Given the description of an element on the screen output the (x, y) to click on. 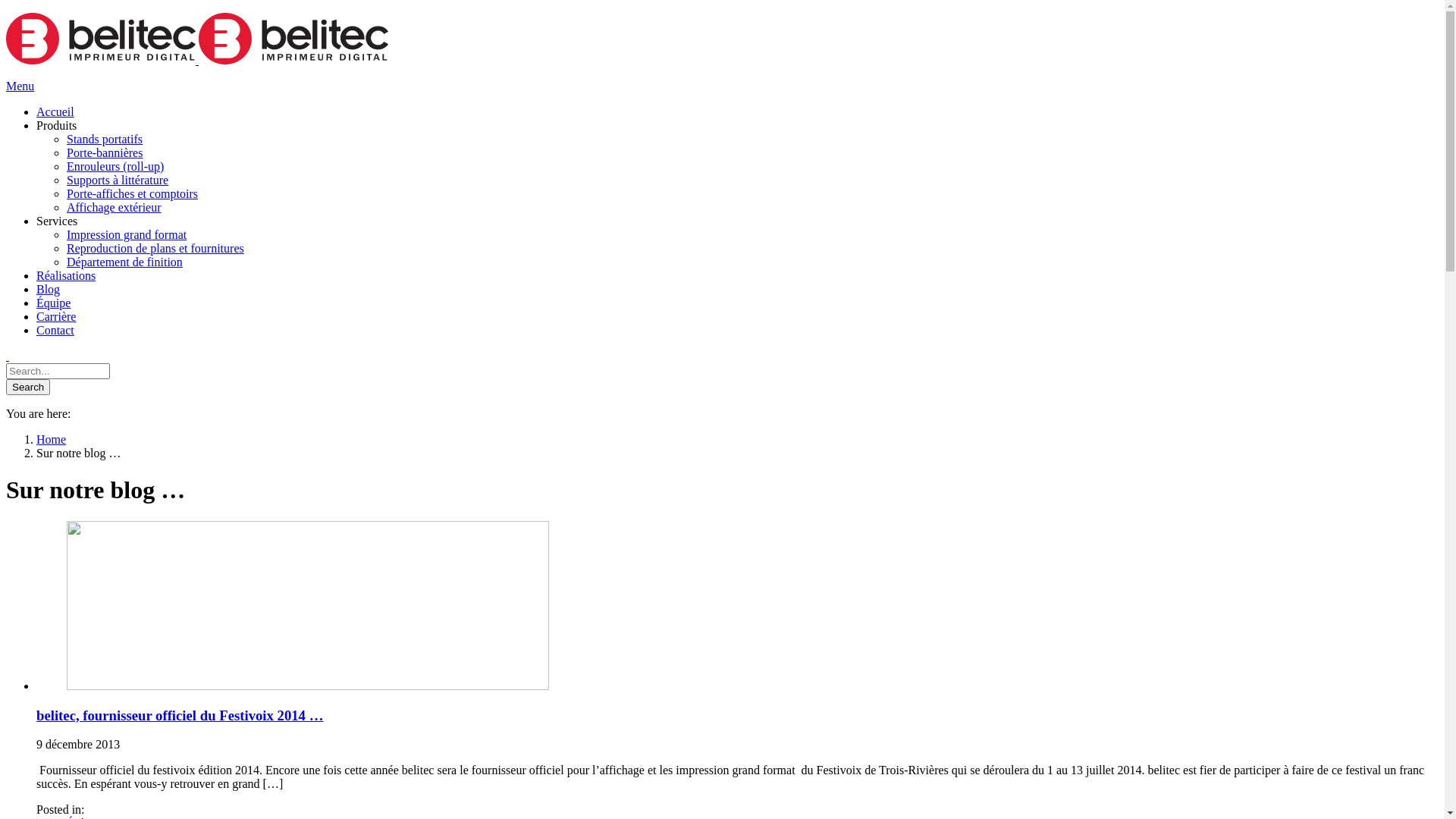
Porte-affiches et comptoirs Element type: text (752, 193)
Contact Element type: text (737, 330)
Services Element type: text (737, 221)
Go back to the homepage Element type: hover (197, 59)
Home Element type: text (50, 439)
  Element type: text (722, 355)
Blog Element type: text (737, 289)
Menu Element type: text (20, 85)
Search Element type: text (28, 387)
Accueil Element type: text (737, 112)
Reproduction de plans et fournitures Element type: text (752, 248)
Stands portatifs Element type: text (752, 139)
Enrouleurs (roll-up) Element type: text (752, 166)
Impression grand format Element type: text (752, 234)
Produits Element type: text (737, 125)
